Given the description of an element on the screen output the (x, y) to click on. 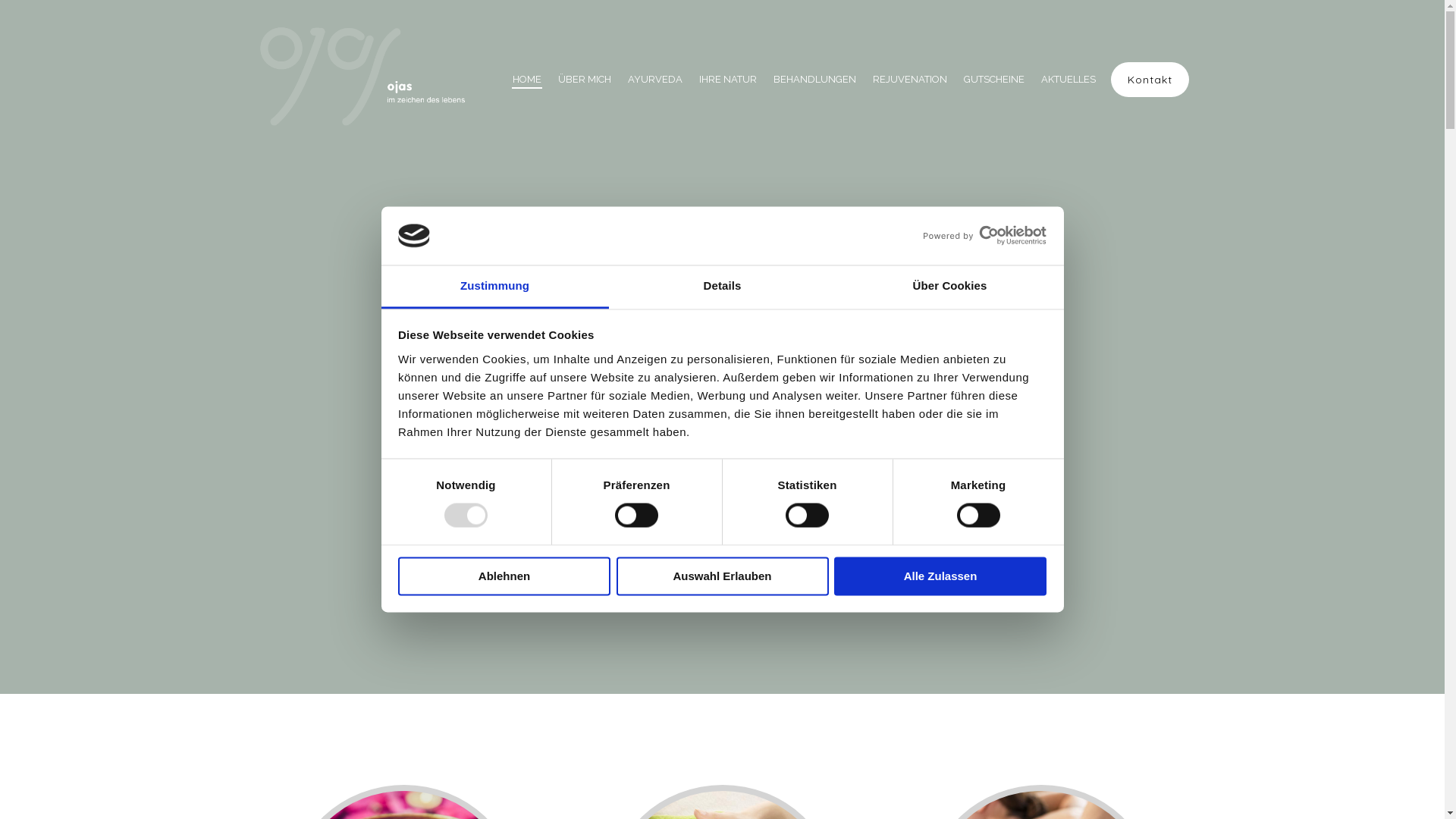
HOME Element type: text (526, 79)
Zustimmung Element type: text (494, 286)
Alle Zulassen Element type: text (940, 575)
Ablehnen Element type: text (504, 575)
AYURVEDA Element type: text (655, 79)
BEHANDLUNGEN Element type: text (814, 79)
REJUVENATION Element type: text (909, 79)
Details Element type: text (721, 286)
Auswahl Erlauben Element type: text (721, 575)
AKTUELLES Element type: text (1068, 79)
GUTSCHEINE Element type: text (994, 79)
Kontakt Element type: text (1149, 79)
IHRE NATUR Element type: text (727, 79)
